Given the description of an element on the screen output the (x, y) to click on. 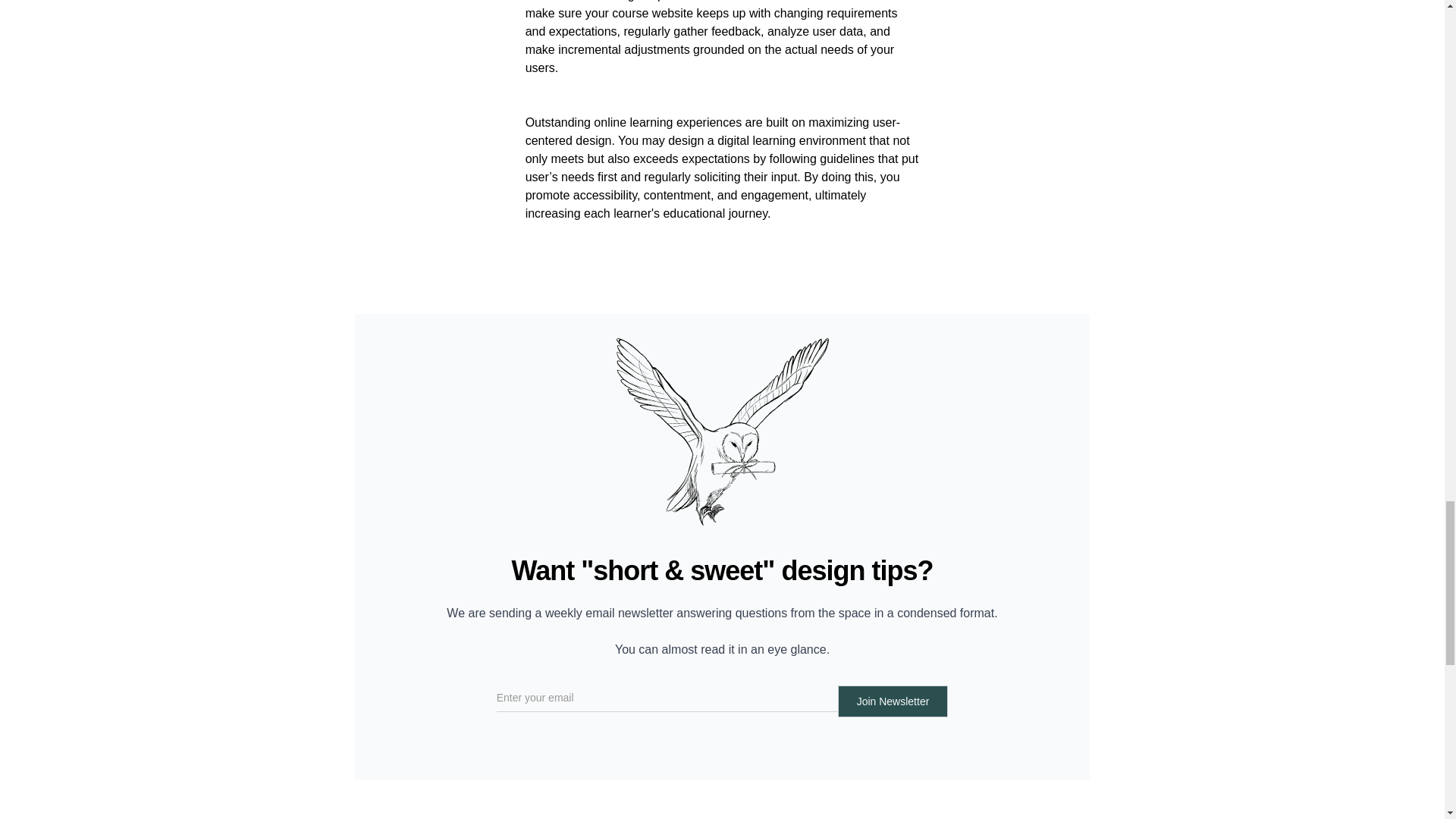
Join Newsletter (893, 701)
Join Newsletter (893, 701)
